Given the description of an element on the screen output the (x, y) to click on. 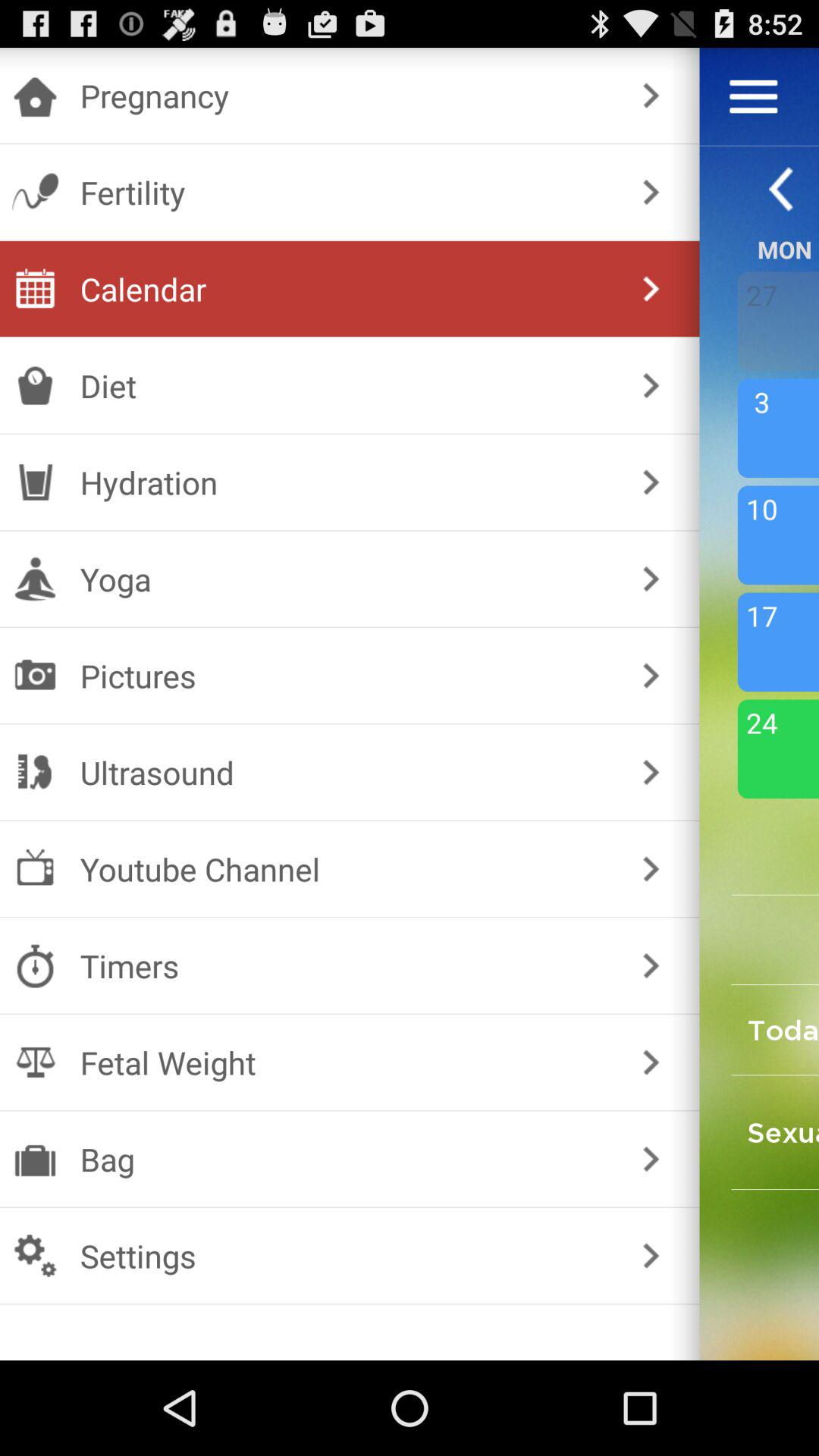
turn on the icon below bag checkbox (346, 1255)
